Given the description of an element on the screen output the (x, y) to click on. 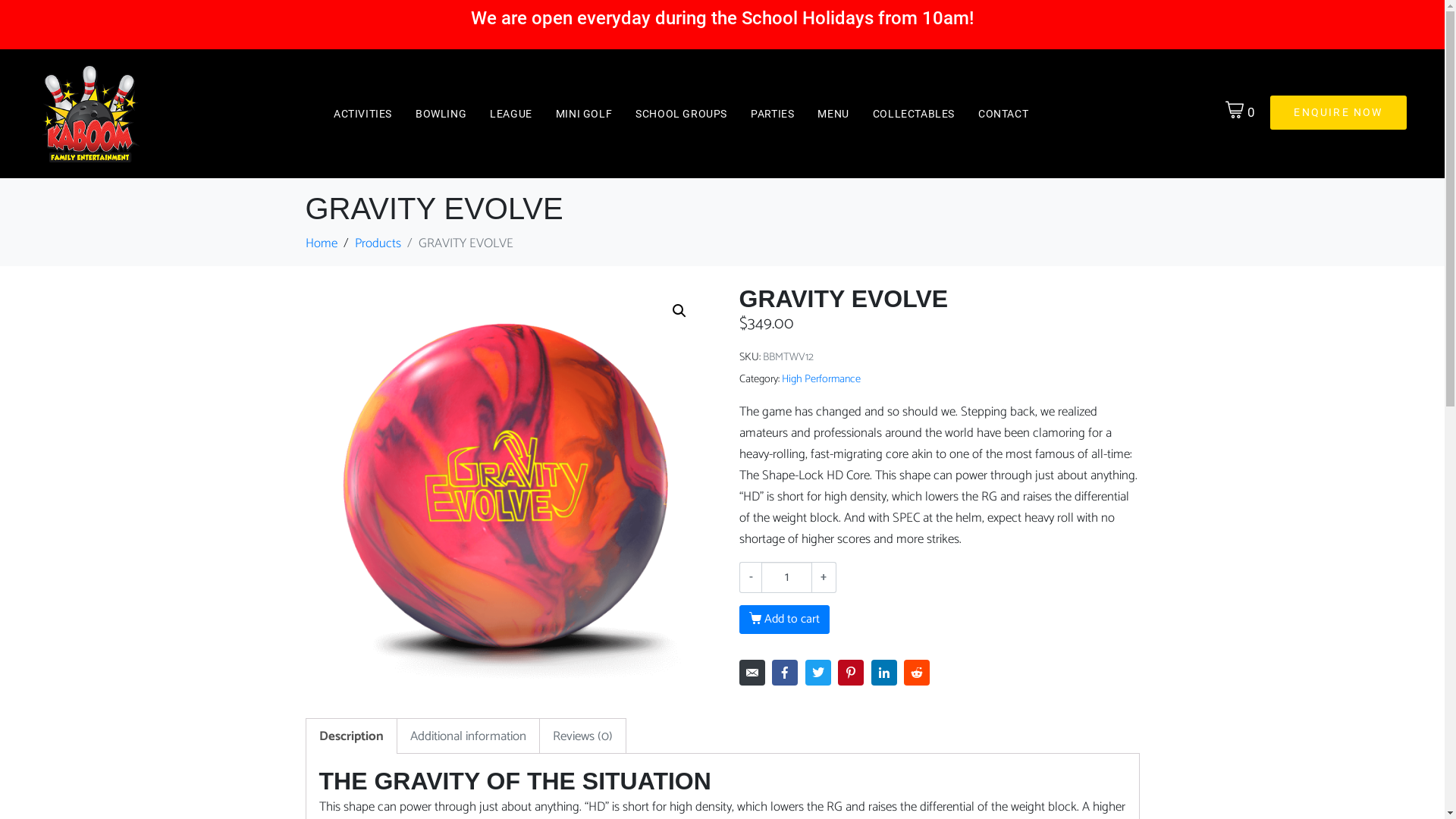
PARTIES Element type: text (771, 113)
+ Element type: text (823, 576)
GRAVITY EVOLVE_00000 Element type: hover (504, 484)
Reviews (0) Element type: text (581, 735)
- Element type: text (749, 576)
MINI GOLF Element type: text (583, 113)
Additional information Element type: text (467, 735)
Description Element type: text (350, 735)
CONTACT Element type: text (1003, 113)
BOWLING Element type: text (440, 113)
0 Element type: text (1240, 111)
MENU Element type: text (832, 113)
Products Element type: text (377, 243)
ENQUIRE NOW Element type: text (1338, 112)
ACTIVITIES Element type: text (362, 113)
High Performance Element type: text (820, 379)
Add to cart Element type: text (783, 619)
SCHOOL GROUPS Element type: text (681, 113)
Home Element type: text (320, 243)
COLLECTABLES Element type: text (913, 113)
LEAGUE Element type: text (510, 113)
